Given the description of an element on the screen output the (x, y) to click on. 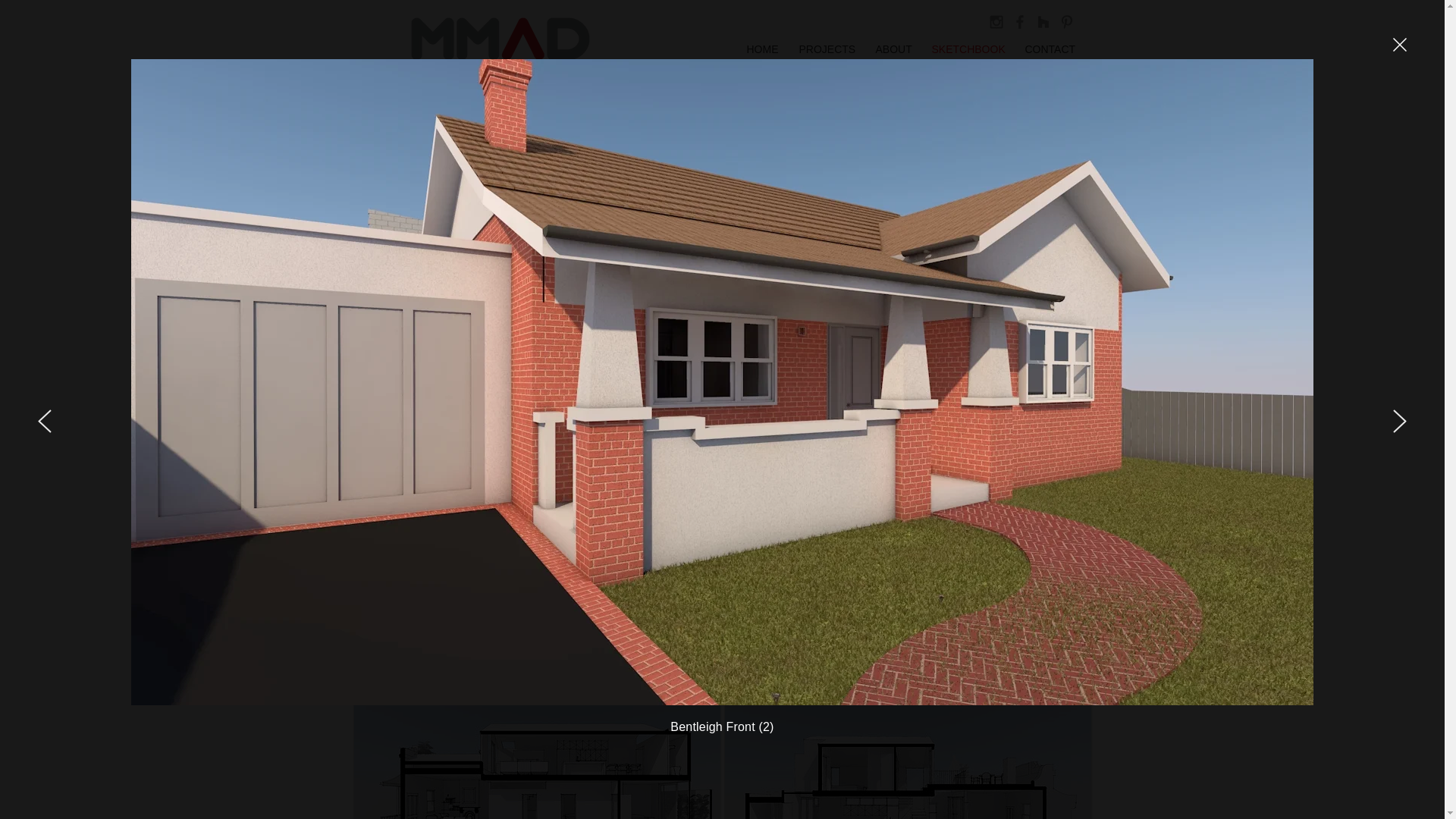
CONTACT Element type: text (1049, 41)
HOME Element type: text (763, 41)
ABOUT Element type: text (894, 41)
SKETCHBOOK Element type: text (968, 41)
PROJECTS Element type: text (826, 41)
